Given the description of an element on the screen output the (x, y) to click on. 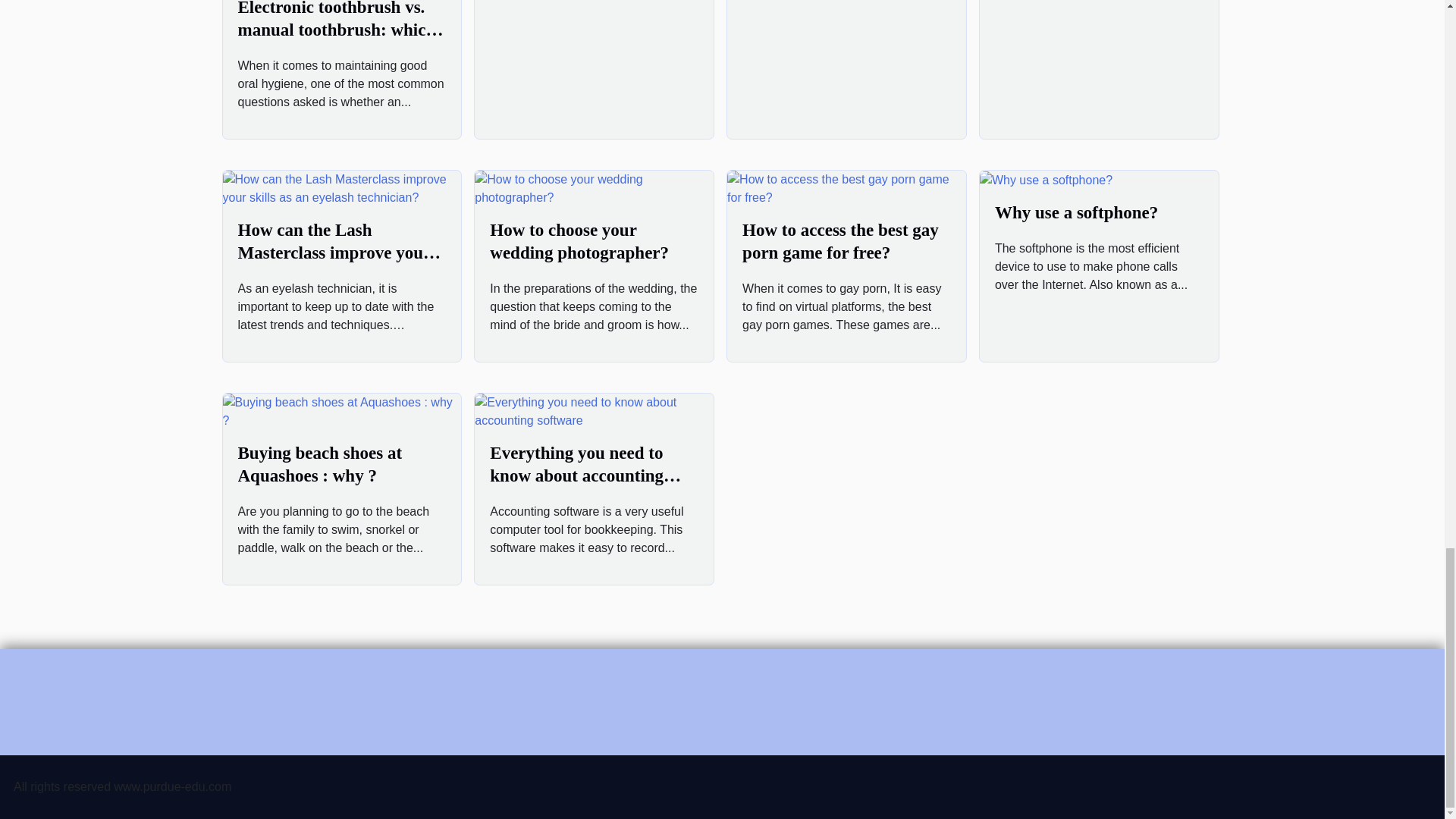
How to choose your wedding photographer? (578, 241)
How to access the best gay porn game for free? (840, 241)
Why use a softphone? (1075, 212)
